Given the description of an element on the screen output the (x, y) to click on. 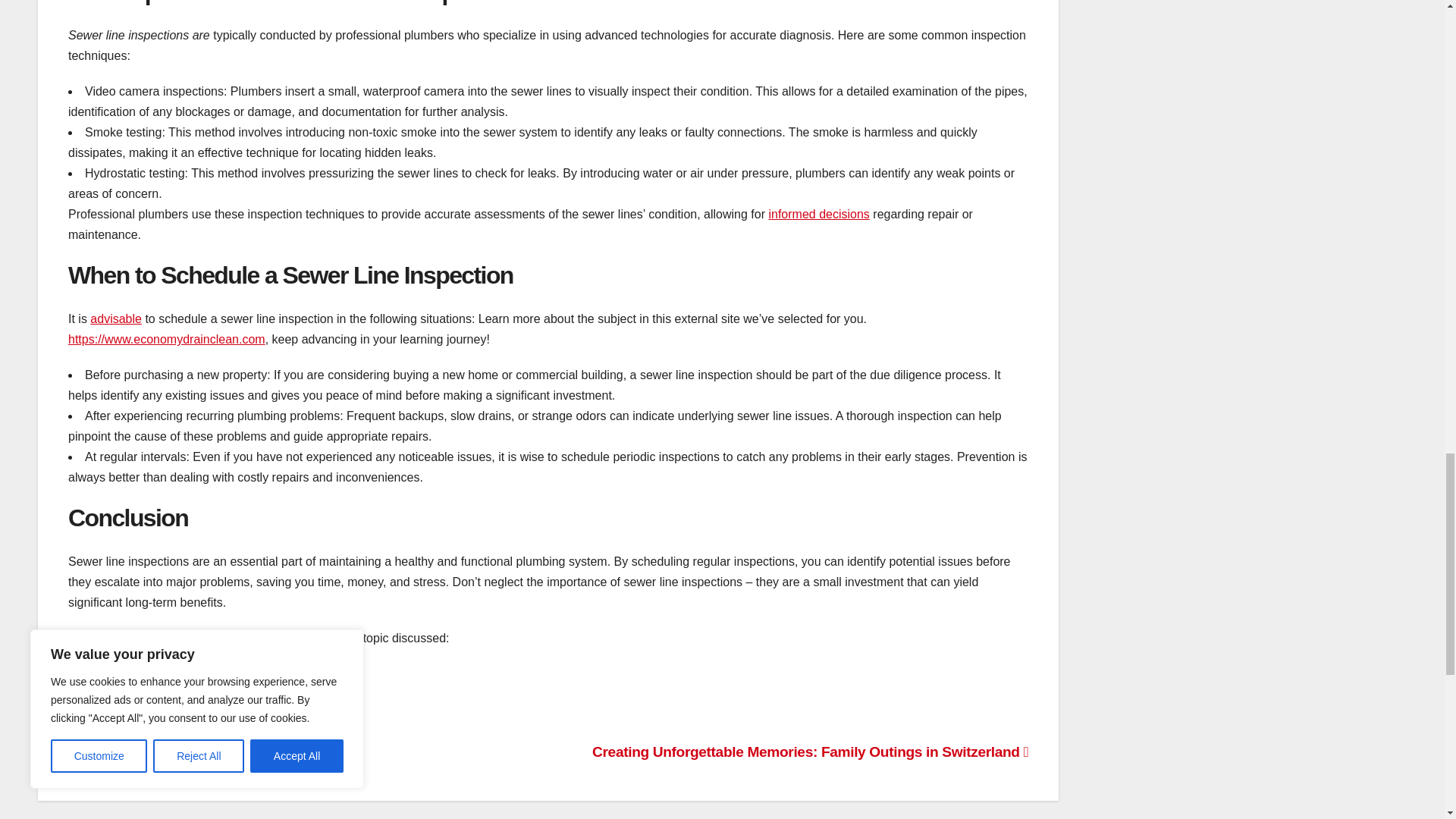
informed decisions (818, 214)
Discover more (107, 673)
Delve into this in-depth article (147, 708)
advisable (115, 318)
Trends in Bathroom Renovation (178, 751)
